Given the description of an element on the screen output the (x, y) to click on. 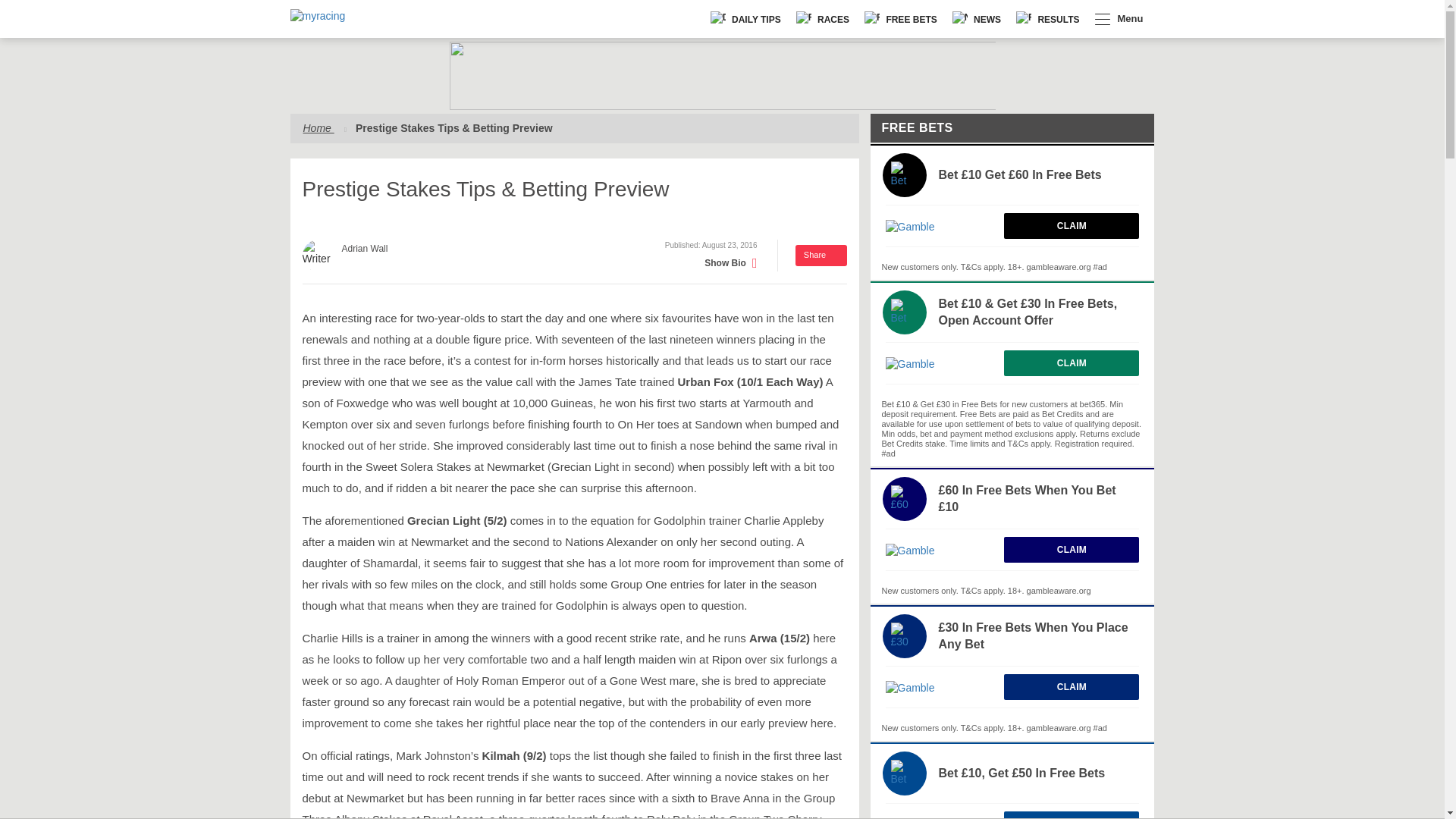
RESULTS (1047, 19)
Menu (1119, 19)
DAILY TIPS (746, 19)
Home (318, 128)
NEWS (976, 19)
FREE BETS (900, 19)
RACES (823, 19)
